Given the description of an element on the screen output the (x, y) to click on. 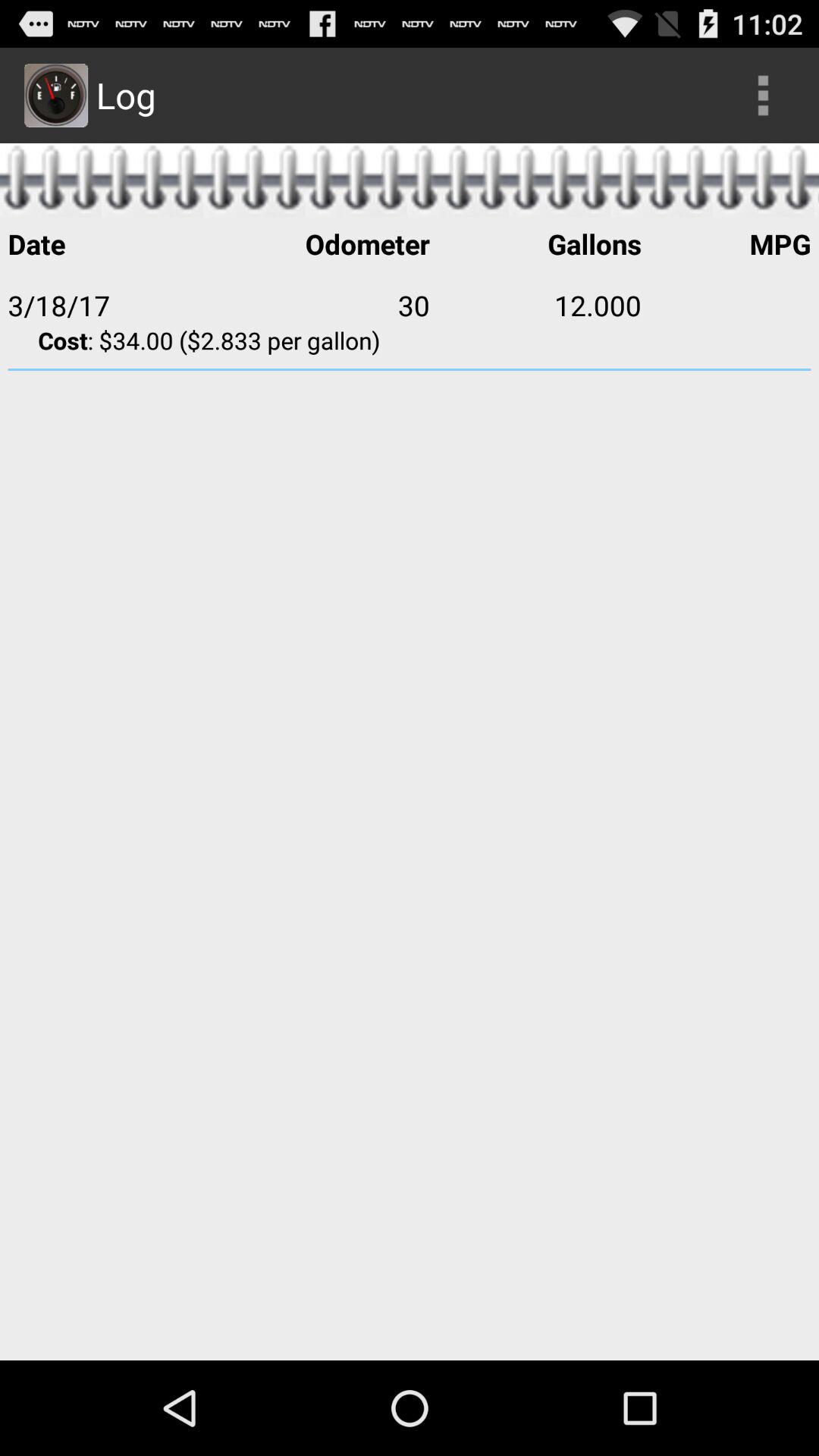
choose the app next to the 3/18/17 icon (323, 305)
